Given the description of an element on the screen output the (x, y) to click on. 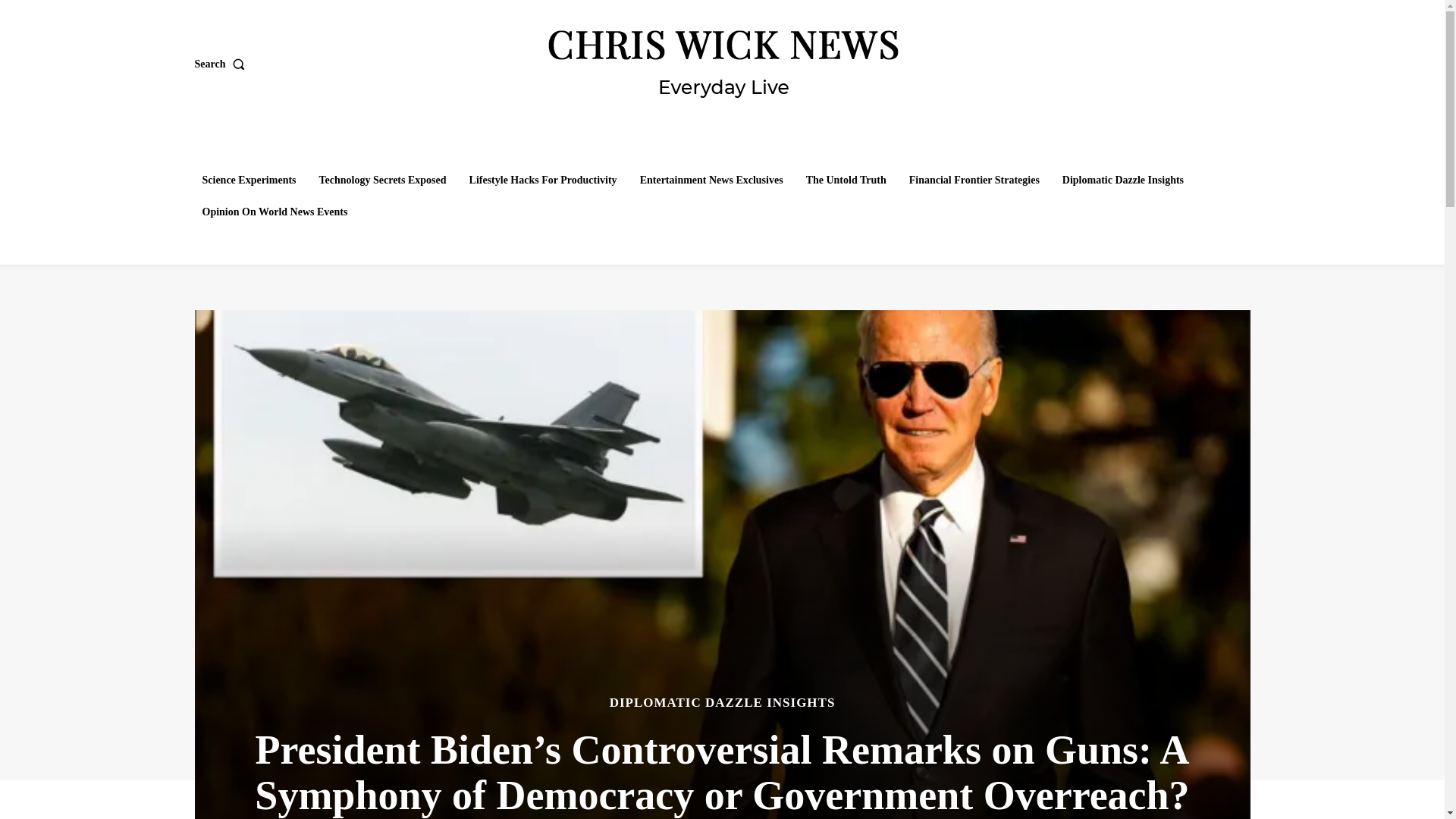
Technology Secrets Exposed (382, 180)
Diplomatic Dazzle Insights (1122, 180)
Science Experiments (247, 180)
Lifestyle Hacks For Productivity (542, 180)
Opinion On World News Events (274, 212)
Entertainment News Exclusives (710, 180)
The Untold Truth (845, 180)
DIPLOMATIC DAZZLE INSIGHTS (722, 702)
Financial Frontier Strategies (973, 180)
Search (221, 64)
